Given the description of an element on the screen output the (x, y) to click on. 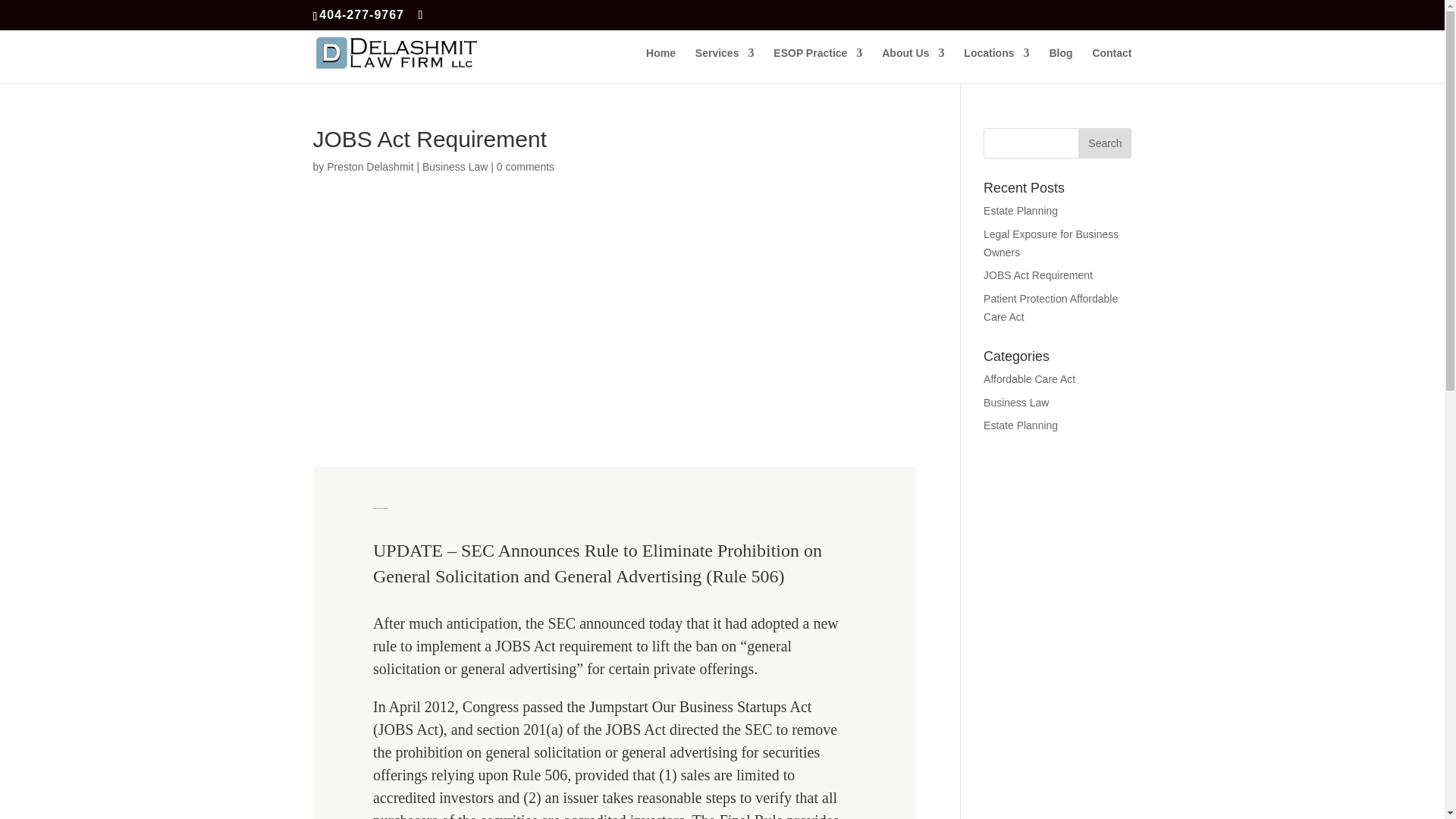
Locations (996, 65)
Search (1104, 142)
Services (724, 65)
Contact (1111, 65)
Preston Delashmit (369, 166)
Patient Protection Affordable Care Act (1051, 307)
Estate Planning (1021, 210)
Business Law (454, 166)
Legal Exposure for Business Owners (1051, 243)
0 comments (525, 166)
About Us (912, 65)
Search (1104, 142)
Posts by Preston Delashmit (369, 166)
ESOP Practice (817, 65)
JOBS Act Requirement (1038, 275)
